Given the description of an element on the screen output the (x, y) to click on. 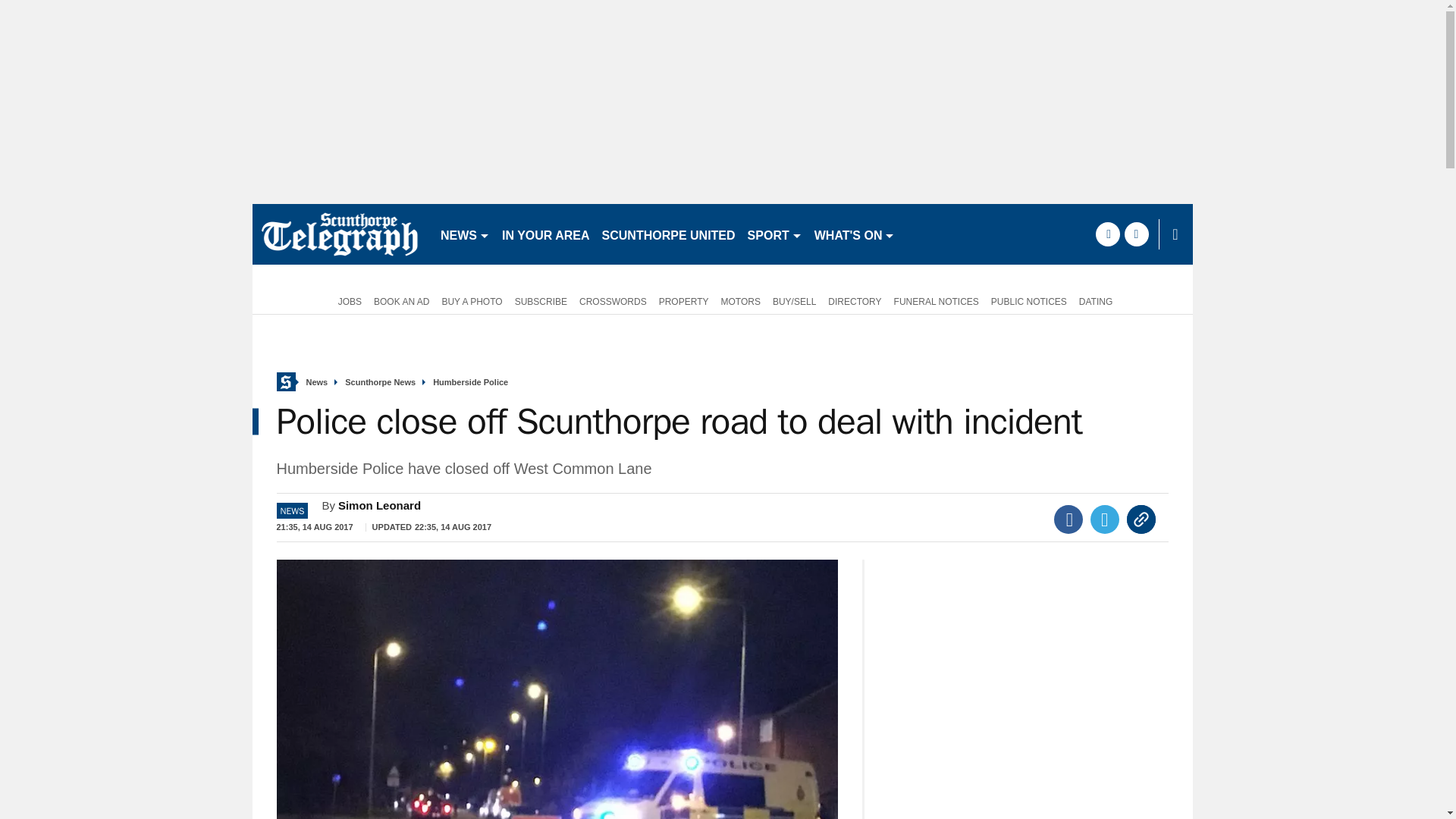
SCUNTHORPE UNITED (668, 233)
twitter (1136, 233)
NEWS (464, 233)
IN YOUR AREA (545, 233)
facebook (1106, 233)
Twitter (1104, 519)
JOBS (347, 300)
scunthorpetelegraph (338, 233)
Facebook (1068, 519)
WHAT'S ON (854, 233)
